Given the description of an element on the screen output the (x, y) to click on. 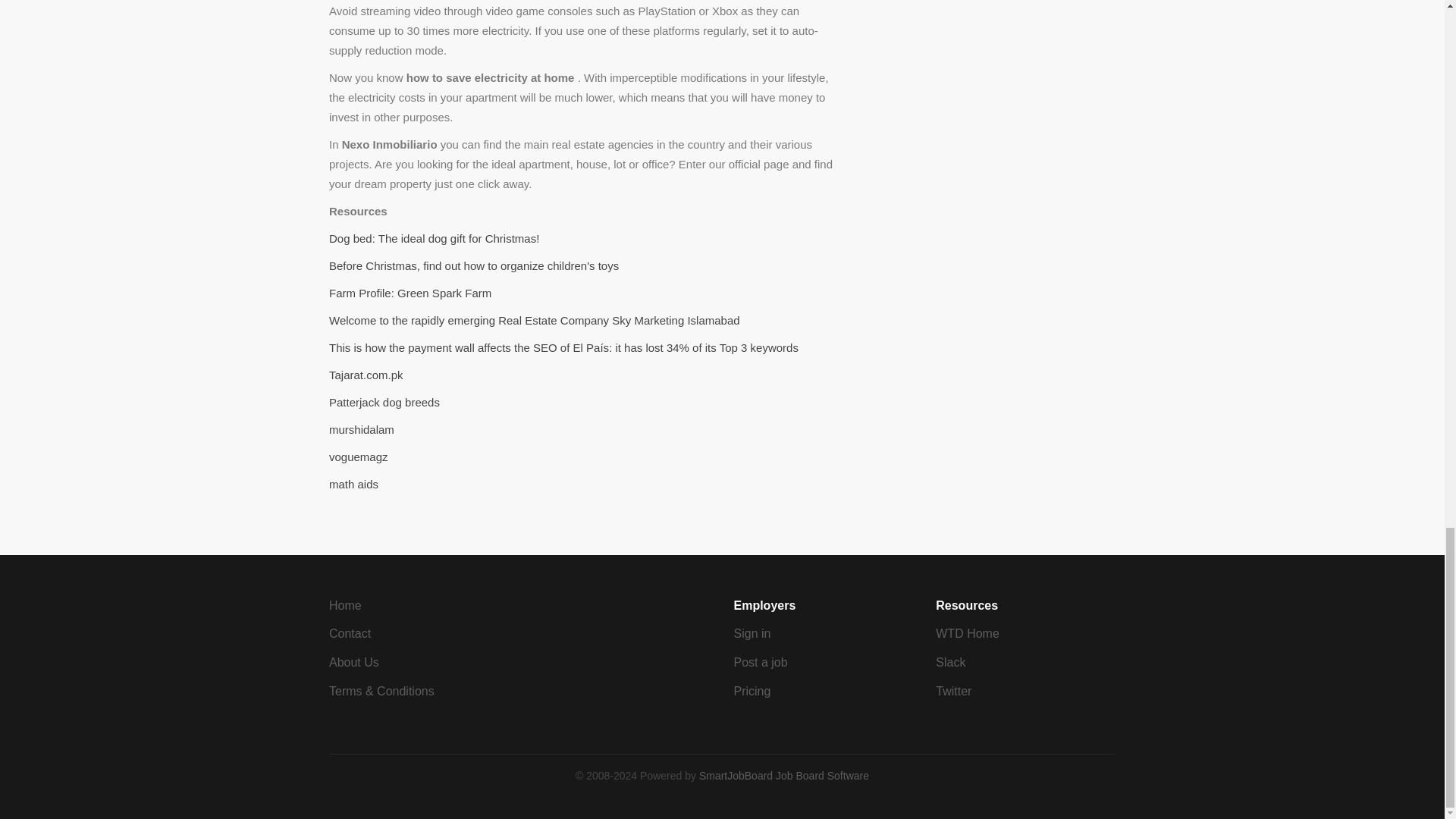
Tajarat.com.pk (366, 374)
Contact (350, 633)
Before Christmas, find out how to organize children's toys (473, 265)
Slack (950, 662)
Sign in (752, 633)
Post a job (760, 662)
Farm Profile: Green Spark Farm (410, 292)
Job Board Software, Script (783, 775)
voguemagz (358, 456)
murshidalam (361, 429)
math aids (353, 483)
Pricing (752, 690)
About Us (353, 662)
Dog bed: The ideal dog gift for Christmas! (433, 237)
